Given the description of an element on the screen output the (x, y) to click on. 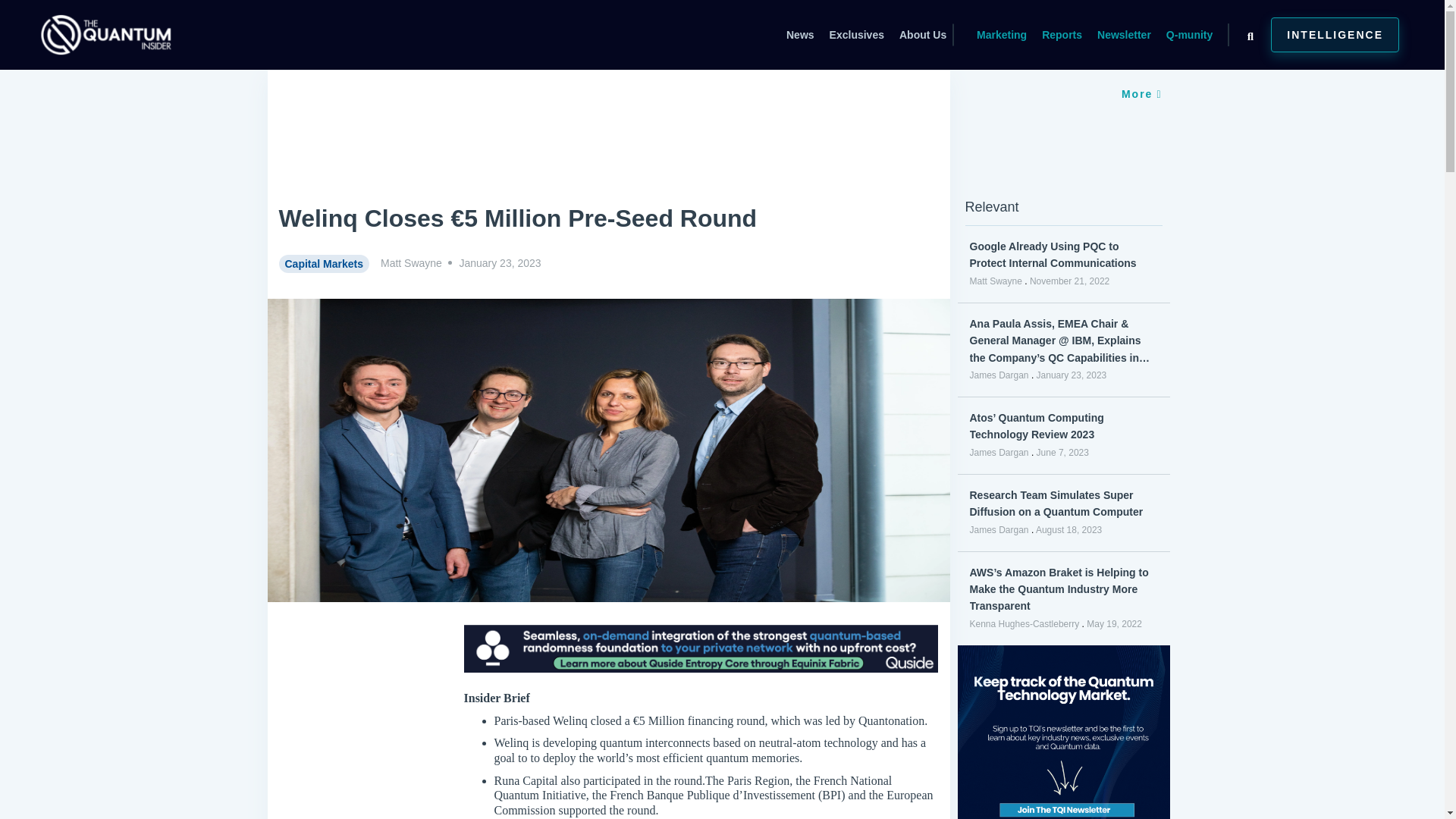
Newsletter (1124, 34)
Exclusives (855, 34)
Q-munity (1189, 34)
INTELLIGENCE (1335, 34)
Marketing (1001, 34)
Reports (1061, 34)
About Us (922, 34)
